Given the description of an element on the screen output the (x, y) to click on. 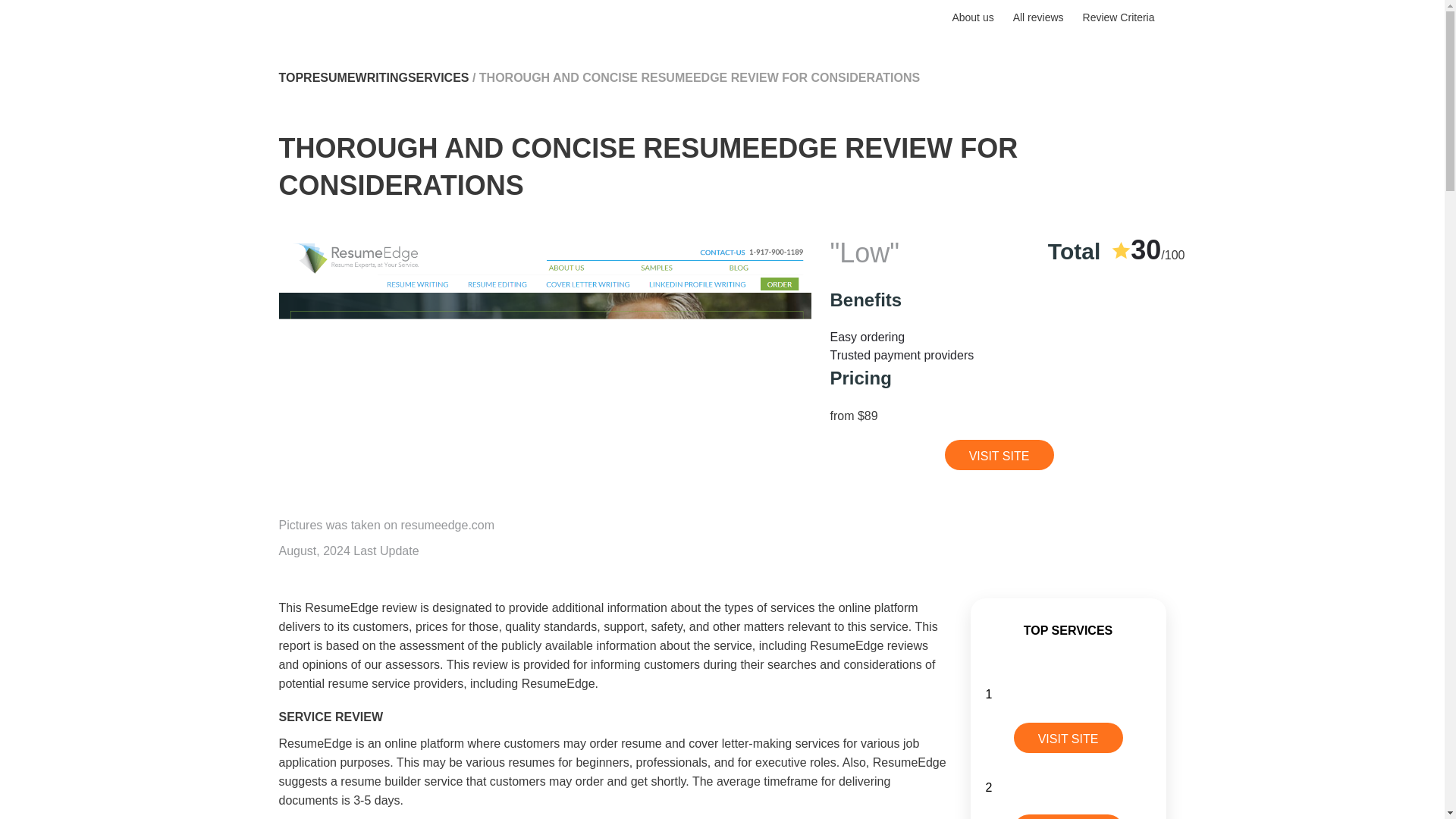
All reviews (1038, 16)
About us (972, 16)
VISIT SITE (999, 454)
Review Criteria (1118, 16)
VISIT SITE (1067, 816)
TOPRESUMEWRITINGSERVICES (373, 77)
VISIT SITE (1067, 737)
